Given the description of an element on the screen output the (x, y) to click on. 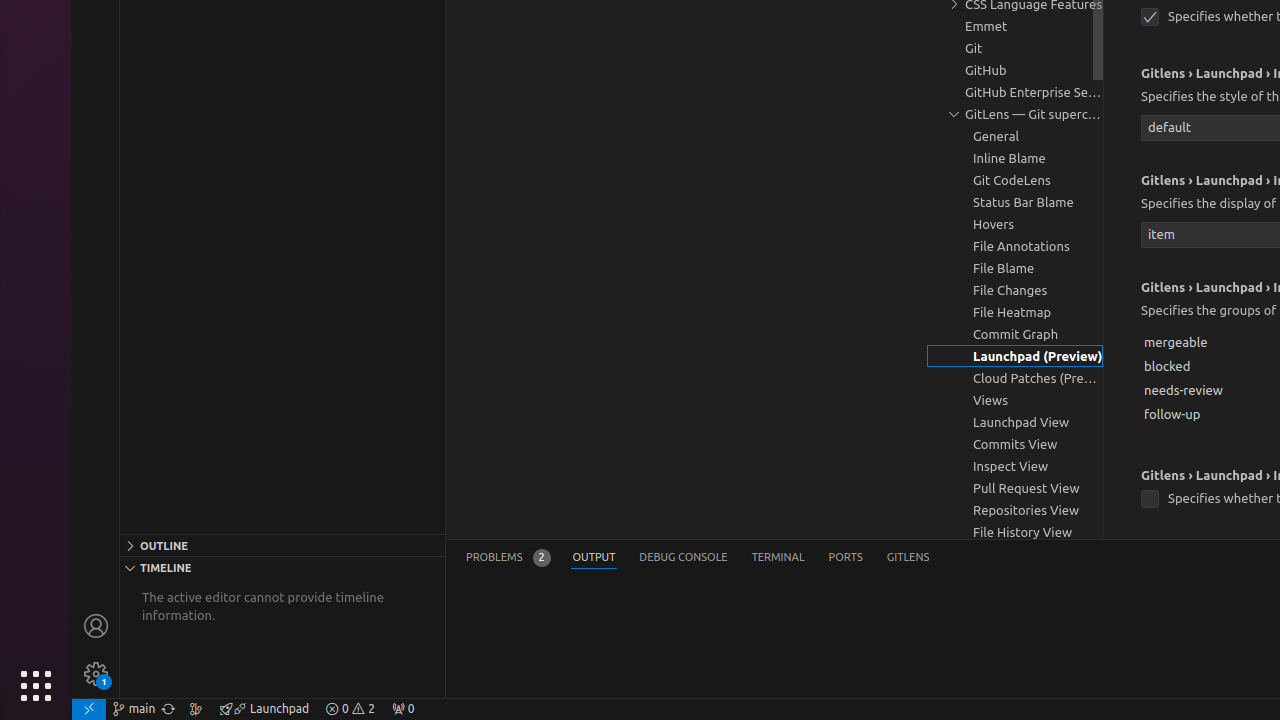
File Blame, group Element type: tree-item (1015, 268)
General, group Element type: tree-item (1015, 136)
Git CodeLens, group Element type: tree-item (1015, 180)
Debug Console (Ctrl+Shift+Y) Element type: page-tab (683, 557)
OSWorld (Git) - Synchronize Changes Element type: push-button (168, 709)
